Given the description of an element on the screen output the (x, y) to click on. 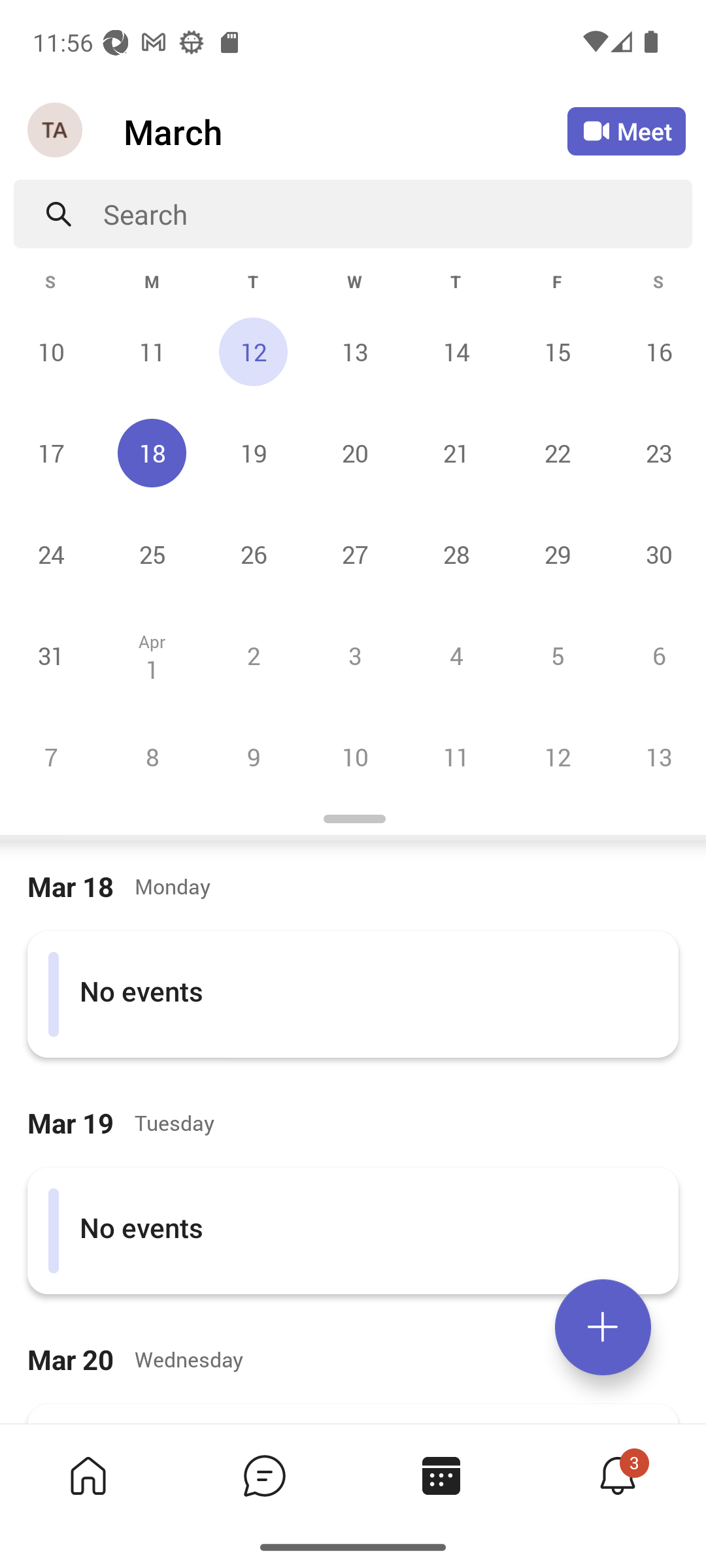
Navigation (56, 130)
Meet Meet now or join with an ID (626, 130)
March March Calendar Agenda View (345, 131)
Search (397, 213)
Sunday, March 10 10 (50, 351)
Monday, March 11 11 (151, 351)
Tuesday, March 12, Today 12 (253, 351)
Wednesday, March 13 13 (354, 351)
Thursday, March 14 14 (455, 351)
Friday, March 15 15 (556, 351)
Saturday, March 16 16 (656, 351)
Sunday, March 17 17 (50, 452)
Monday, March 18, Selected 18 (151, 452)
Tuesday, March 19 19 (253, 452)
Wednesday, March 20 20 (354, 452)
Thursday, March 21 21 (455, 452)
Friday, March 22 22 (556, 452)
Saturday, March 23 23 (656, 452)
Sunday, March 24 24 (50, 554)
Monday, March 25 25 (151, 554)
Tuesday, March 26 26 (253, 554)
Wednesday, March 27 27 (354, 554)
Thursday, March 28 28 (455, 554)
Friday, March 29 29 (556, 554)
Saturday, March 30 30 (656, 554)
Sunday, March 31 31 (50, 655)
Monday, April 1 Apr 1 (151, 655)
Tuesday, April 2 2 (253, 655)
Wednesday, April 3 3 (354, 655)
Thursday, April 4 4 (455, 655)
Friday, April 5 5 (556, 655)
Saturday, April 6 6 (656, 655)
Sunday, April 7 7 (50, 756)
Monday, April 8 8 (151, 756)
Tuesday, April 9 9 (253, 756)
Wednesday, April 10 10 (354, 756)
Thursday, April 11 11 (455, 756)
Friday, April 12 12 (556, 756)
Saturday, April 13 13 (656, 756)
Expand meetings menu (602, 1327)
Home tab,1 of 4, not selected (88, 1475)
Chat tab,2 of 4, not selected (264, 1475)
Calendar tab, 3 of 4 (441, 1475)
Activity tab,4 of 4, not selected, 3 new 3 (617, 1475)
